Given the description of an element on the screen output the (x, y) to click on. 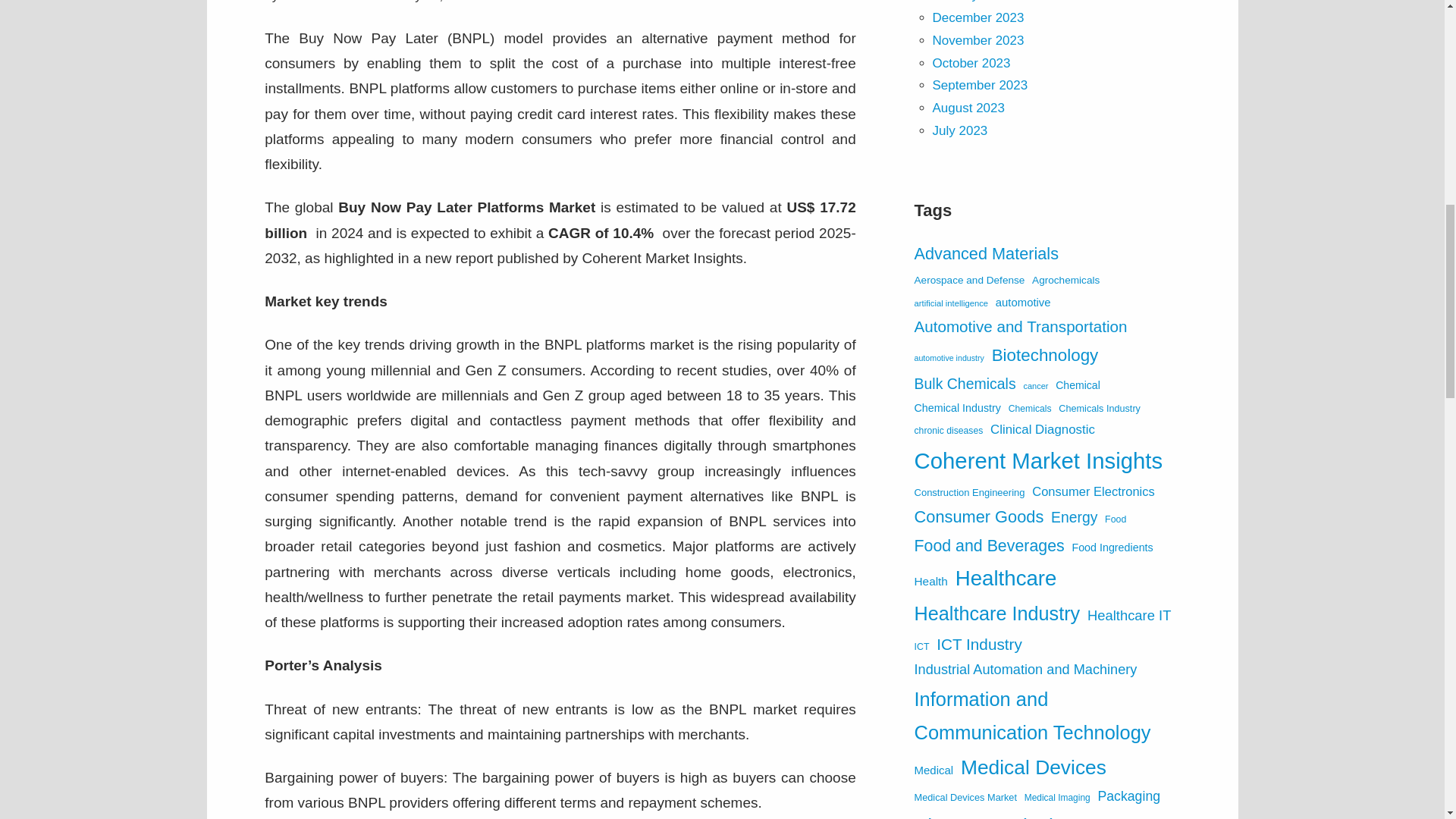
January 24, 2024 (424, 1)
